Given the description of an element on the screen output the (x, y) to click on. 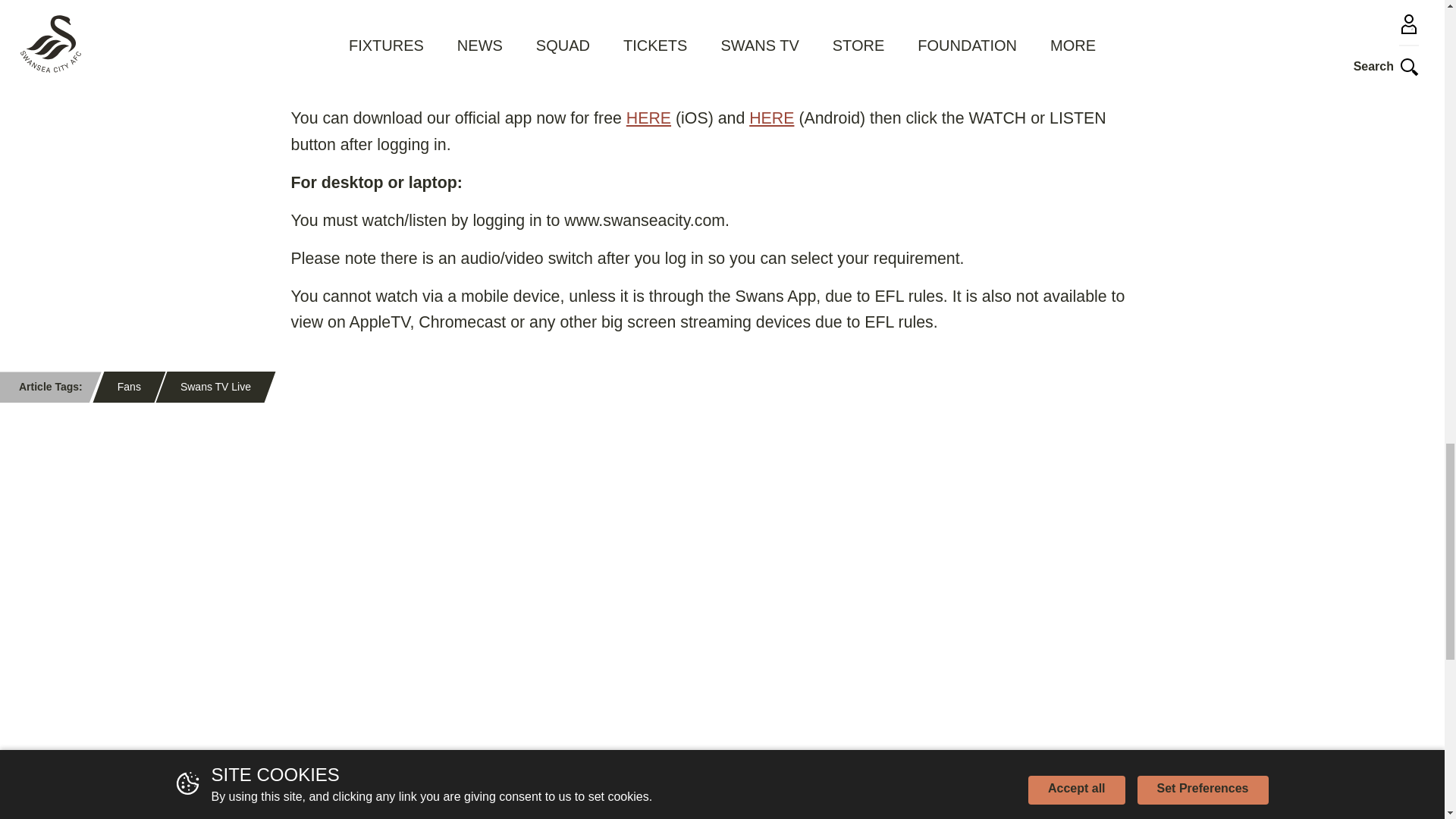
3rd party ad content (721, 735)
3rd party ad content (357, 533)
3rd party ad content (1085, 735)
3rd party ad content (1085, 533)
3rd party ad content (357, 735)
3rd party ad content (721, 533)
